Given the description of an element on the screen output the (x, y) to click on. 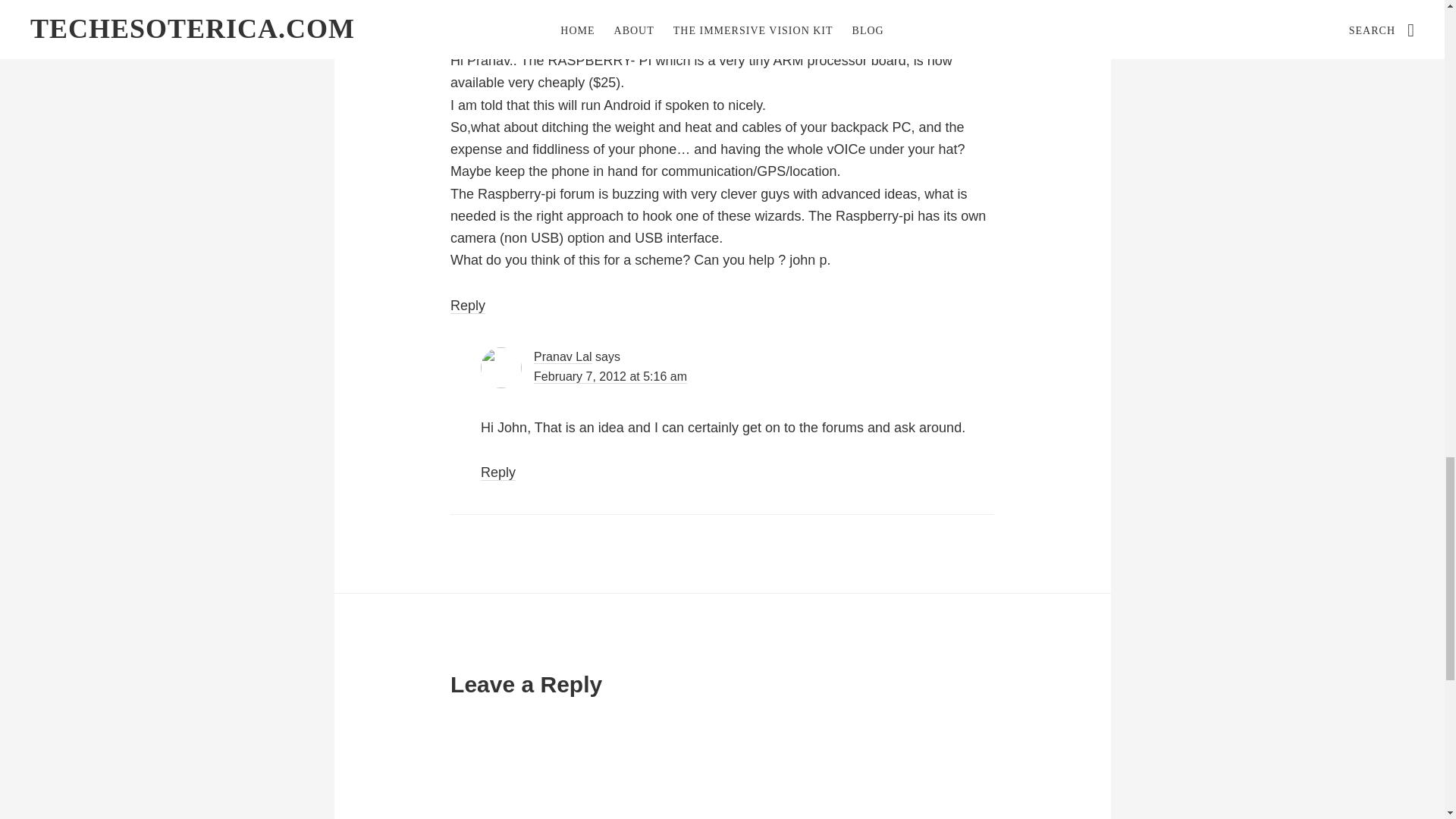
Pranav Lal (563, 356)
February 7, 2012 at 1:32 am (579, 9)
Comment Form (721, 766)
Reply (466, 305)
Reply (497, 472)
February 7, 2012 at 5:16 am (610, 377)
